Given the description of an element on the screen output the (x, y) to click on. 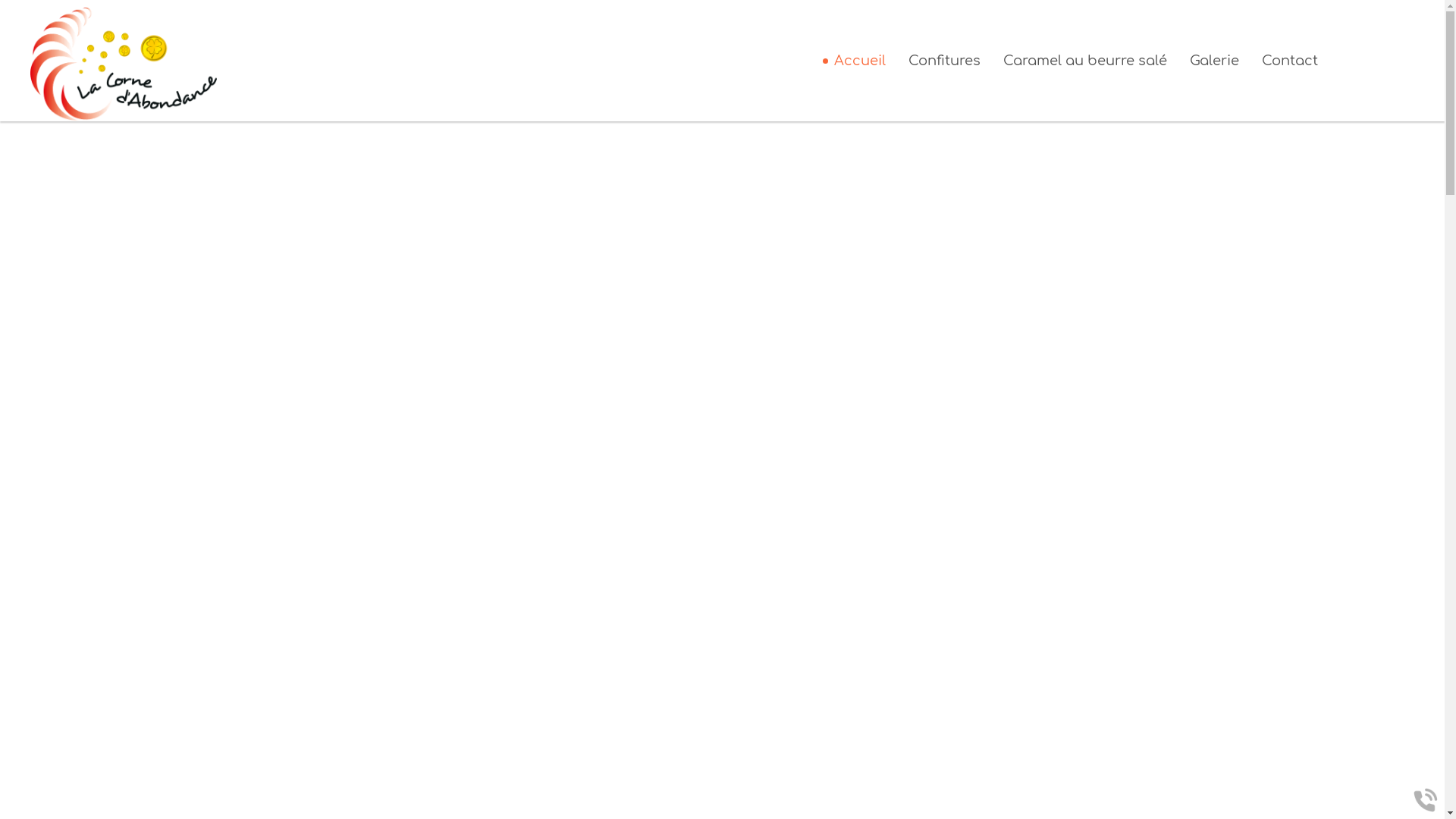
Galerie Element type: text (1213, 60)
Contact Element type: text (1289, 60)
Logo La Corne d'abondance Element type: hover (123, 65)
Accueil Element type: text (859, 60)
Confitures Element type: text (944, 60)
